Given the description of an element on the screen output the (x, y) to click on. 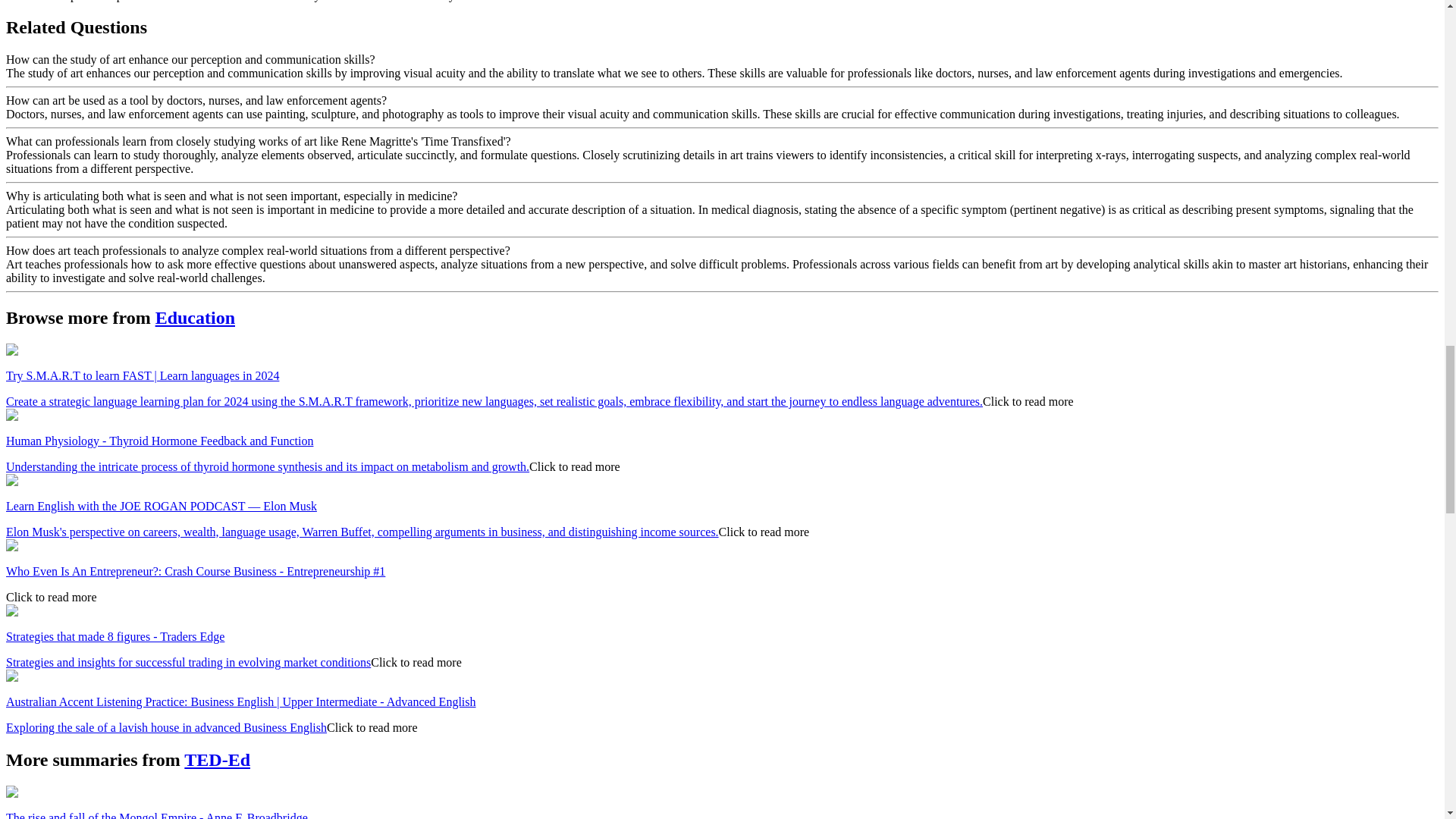
The rise and fall of the Mongol Empire - Anne F. Broadbridge (156, 815)
Education (194, 317)
Strategies that made 8 figures - Traders Edge (114, 635)
TED-Ed (217, 759)
Human Physiology - Thyroid Hormone Feedback and Function (159, 440)
